Given the description of an element on the screen output the (x, y) to click on. 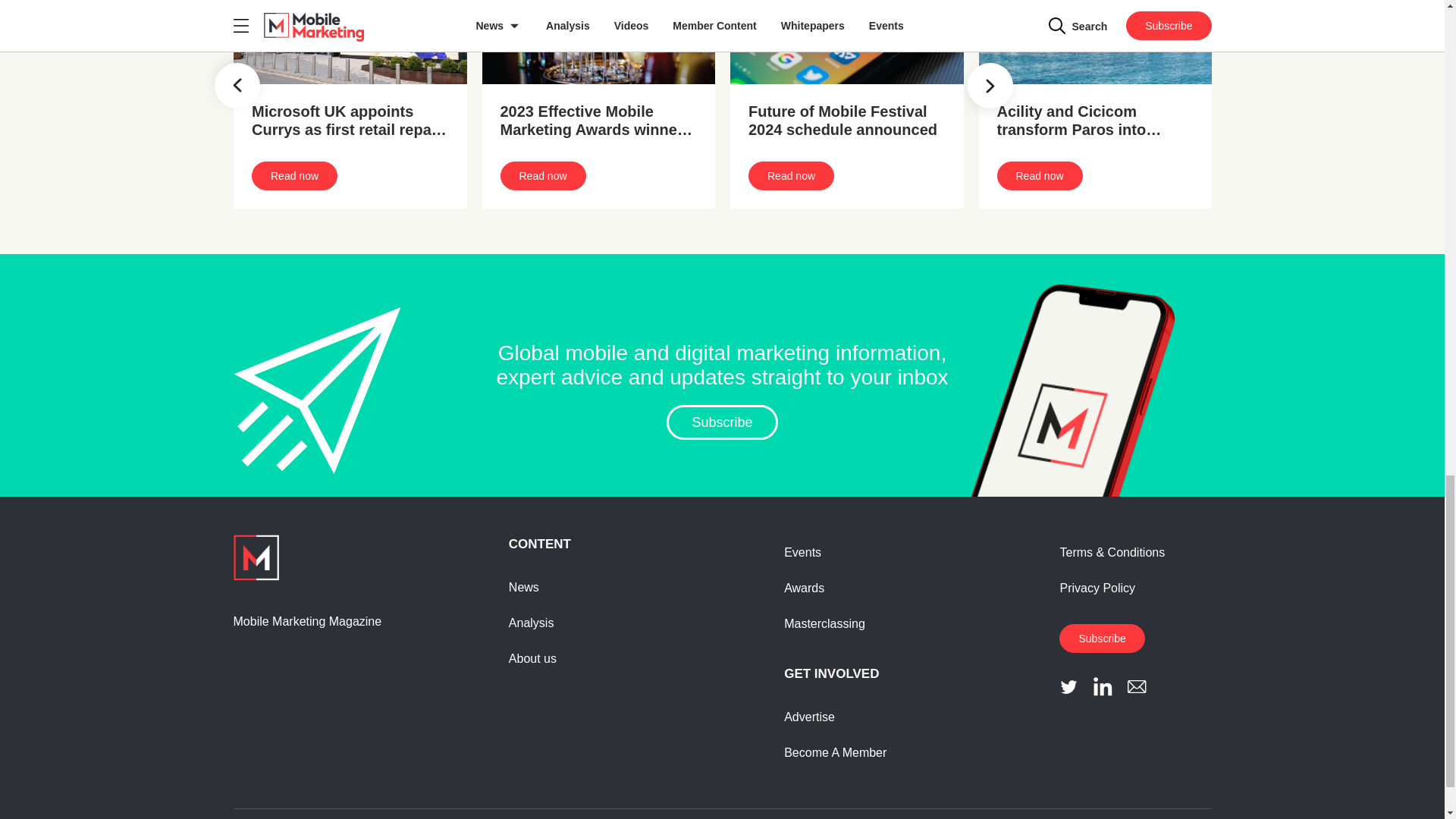
Twitter icon (1068, 686)
